Given the description of an element on the screen output the (x, y) to click on. 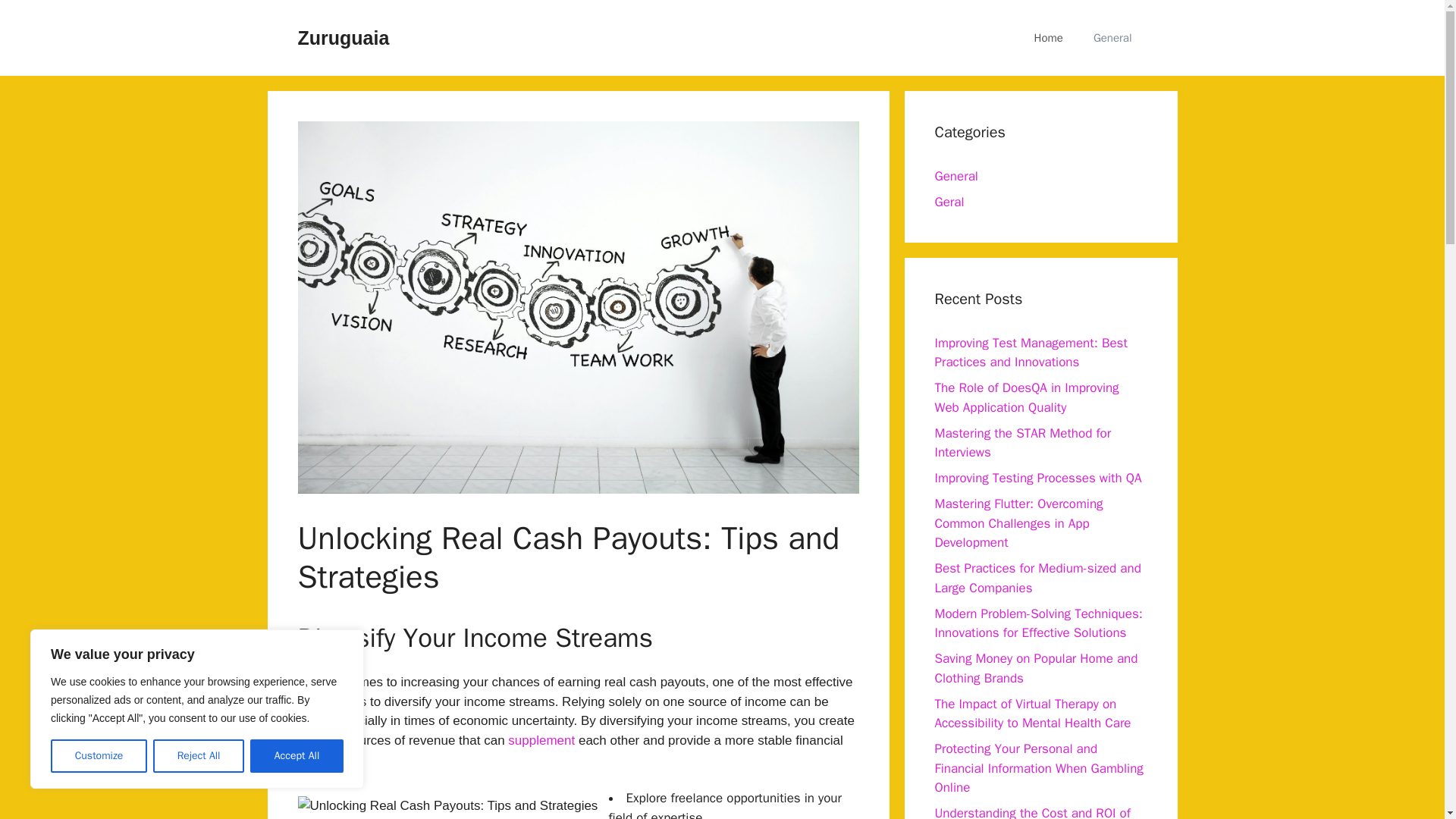
Zuruguaia (342, 37)
Geral (948, 201)
Home (1048, 37)
General (955, 176)
Improving Test Management: Best Practices and Innovations (1030, 352)
Improving Testing Processes with QA (1037, 478)
Customize (98, 756)
General (1112, 37)
